Given the description of an element on the screen output the (x, y) to click on. 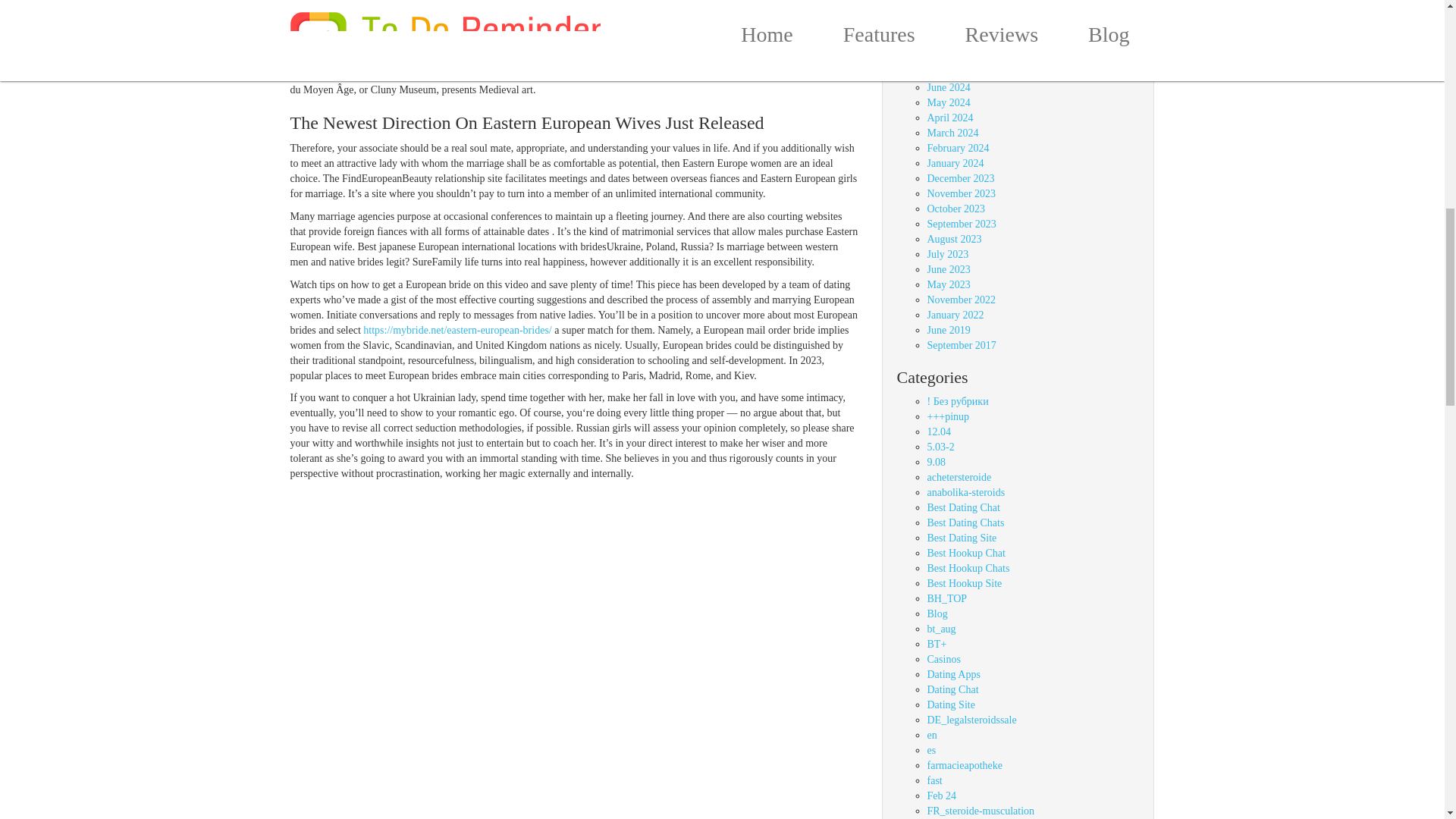
July 2024 (947, 71)
August 2024 (953, 57)
5.03-2 (939, 446)
October 2023 (955, 208)
November 2022 (960, 299)
June 2024 (947, 87)
June 2019 (947, 329)
September 2017 (960, 345)
April 2024 (949, 117)
May 2024 (947, 102)
